Given the description of an element on the screen output the (x, y) to click on. 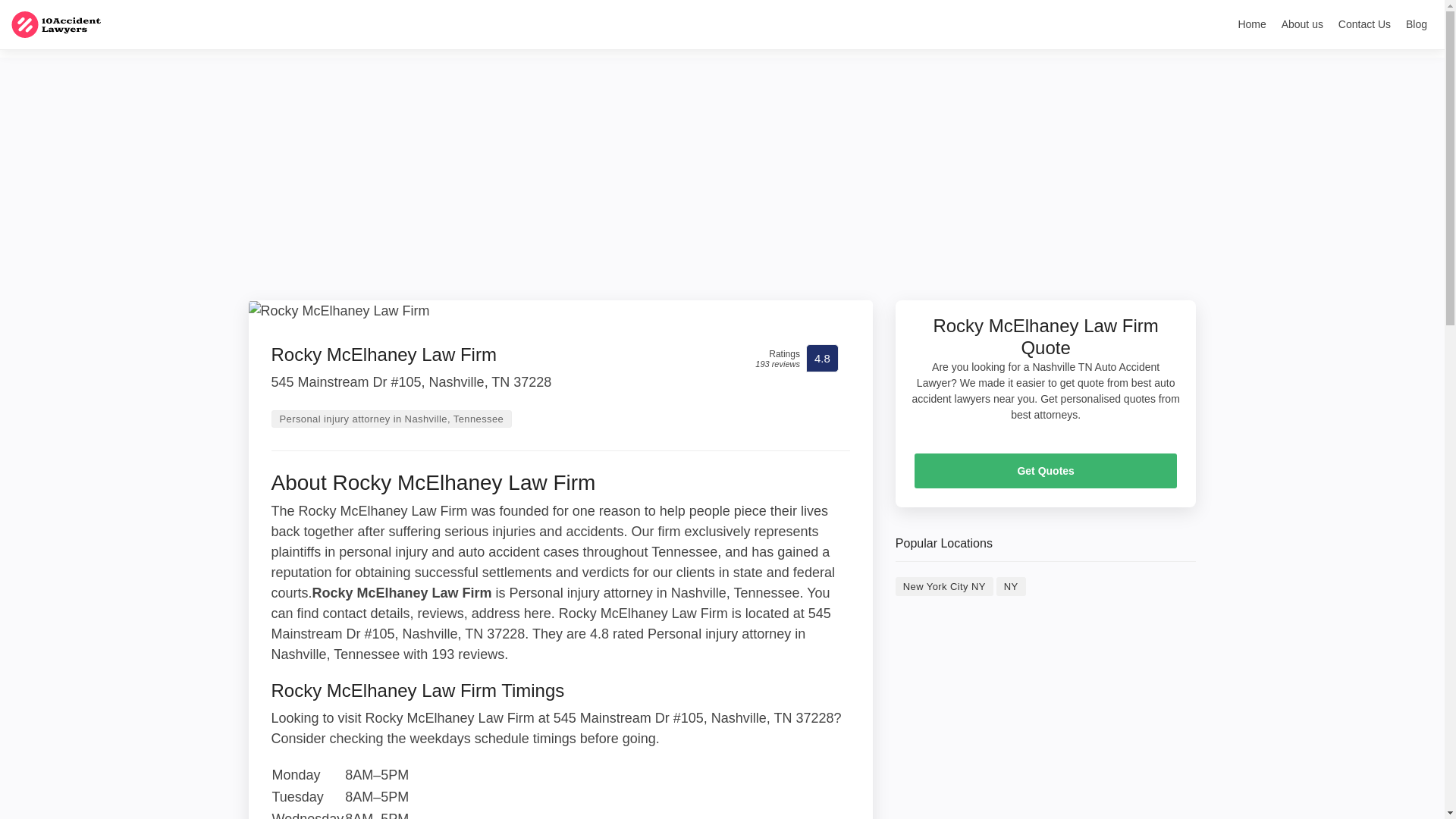
About us (1302, 28)
Personal injury attorney in Nashville, Tennessee (391, 418)
New York City NY (943, 587)
Contact Us (1364, 28)
Get Quotes (1045, 470)
Blog (1415, 28)
Home (1251, 28)
NY (1010, 587)
